Given the description of an element on the screen output the (x, y) to click on. 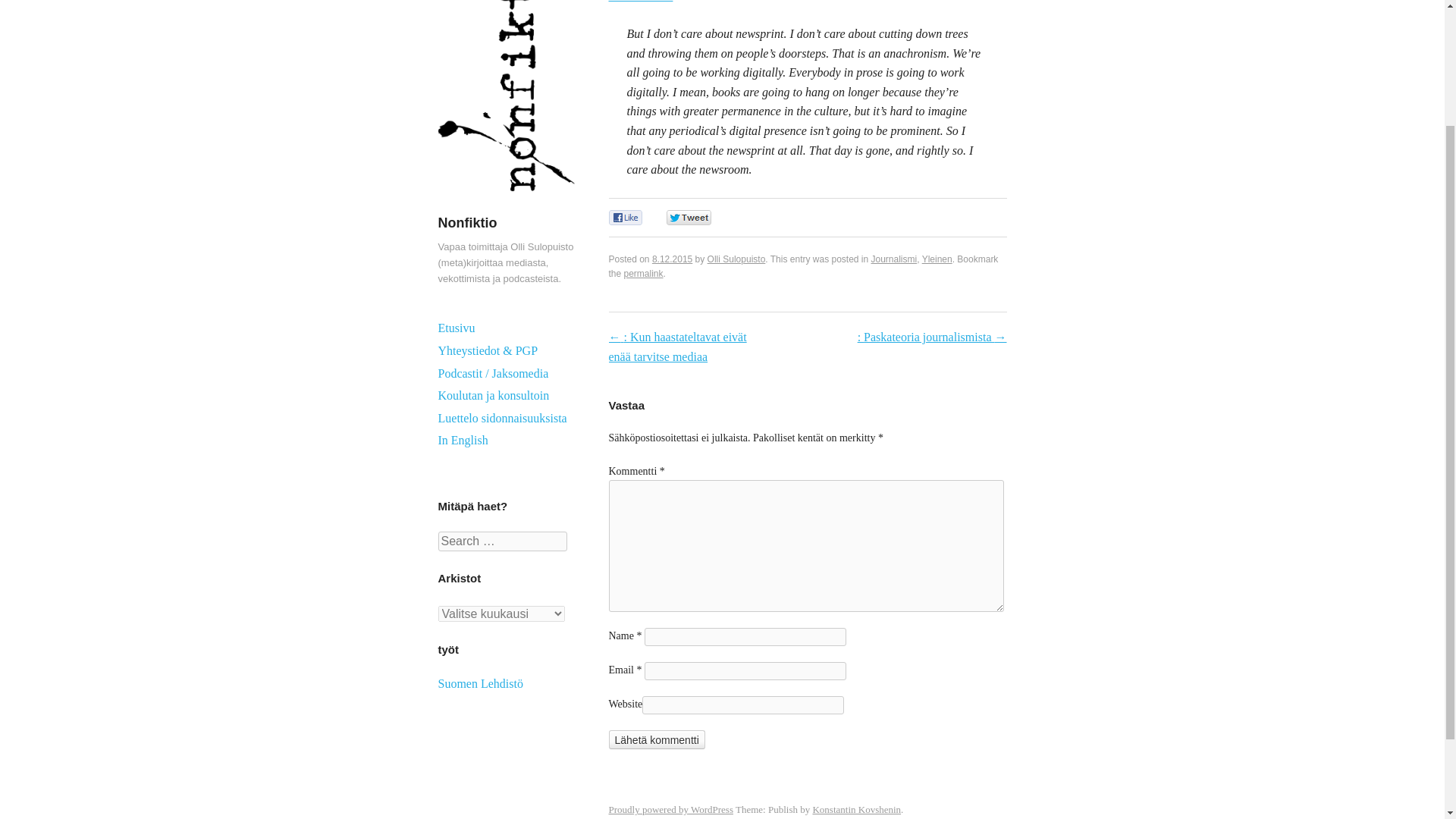
permalink (643, 273)
Skip to content (475, 327)
Nonfiktio (467, 222)
08:11 (672, 258)
Be the first one to tweet this article! (703, 217)
Nonfiktio (506, 205)
Konstantin Kovshenin (856, 808)
In English (506, 440)
Luettelo sidonnaisuuksista (506, 418)
Etusivu (506, 327)
Olli Sulopuisto (736, 258)
Nonfiktio (467, 222)
View all posts by Olli Sulopuisto (736, 258)
Journalismi (893, 258)
Koulutan ja konsultoin (506, 395)
